Given the description of an element on the screen output the (x, y) to click on. 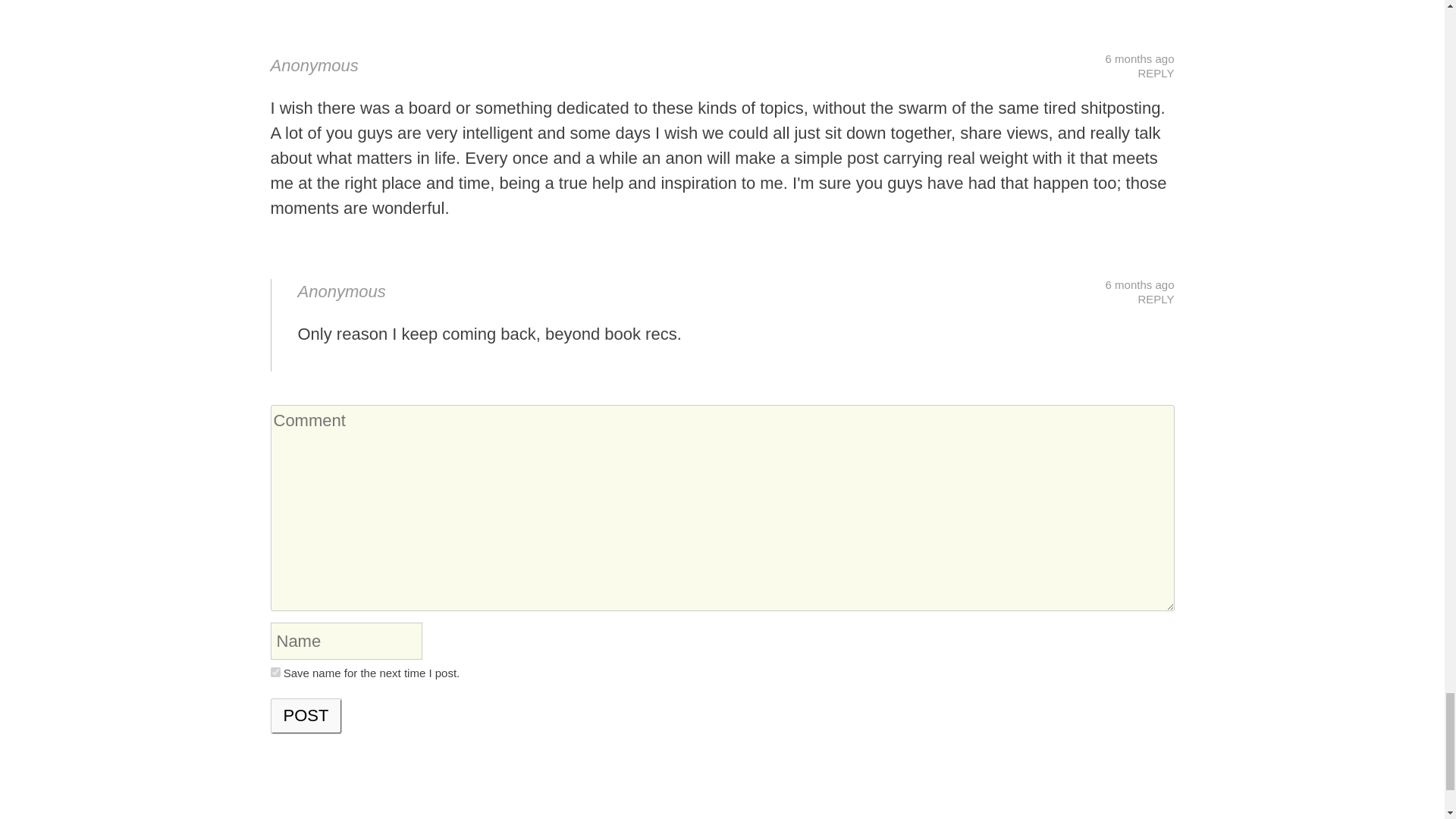
REPLY (1155, 298)
REPLY (1155, 72)
Post (305, 715)
yes (274, 672)
